Given the description of an element on the screen output the (x, y) to click on. 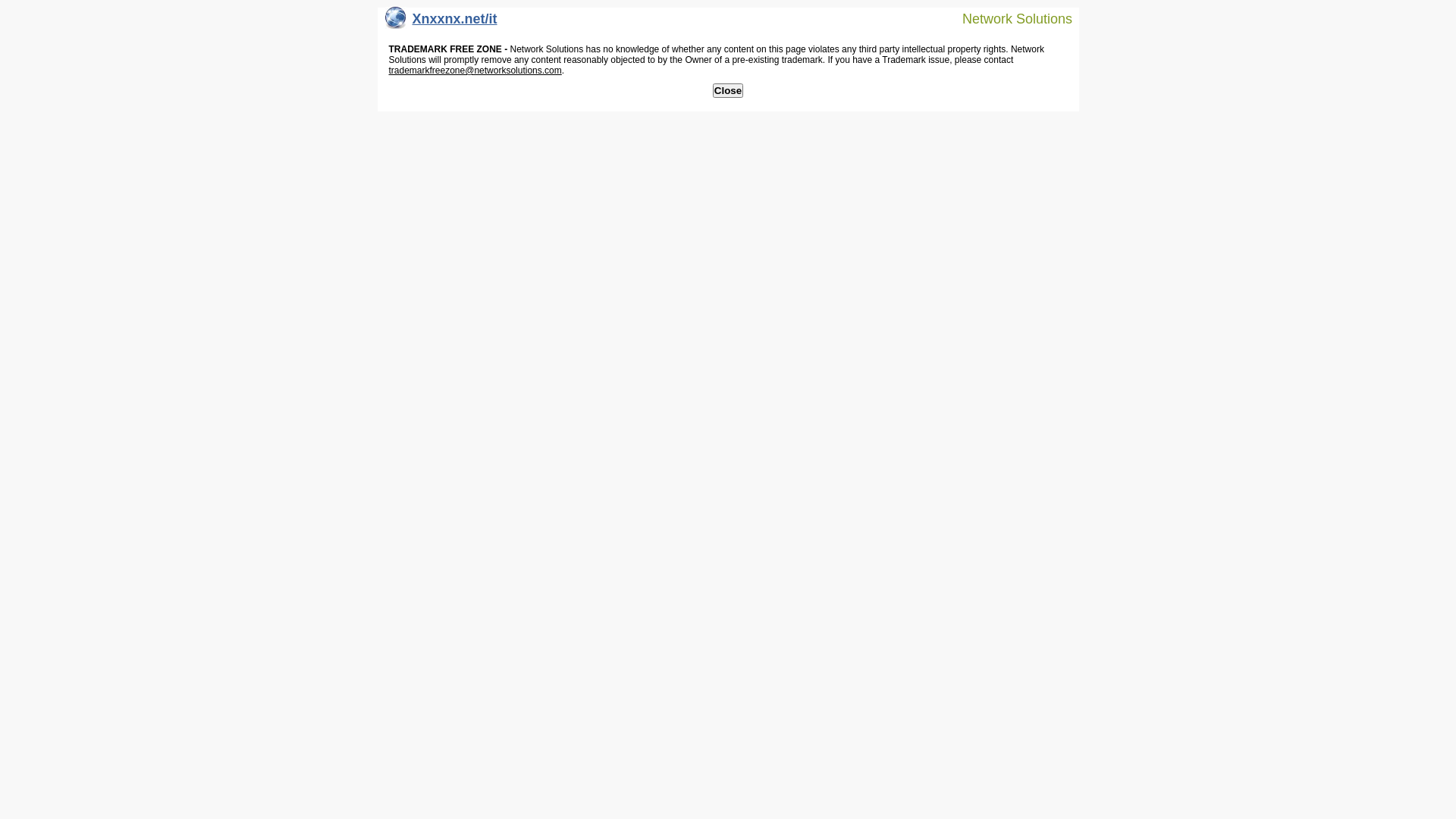
trademarkfreezone@networksolutions.com Element type: text (474, 70)
Xnxxnx.net/it Element type: text (441, 21)
Network Solutions Element type: text (1007, 17)
Close Element type: text (727, 90)
